Given the description of an element on the screen output the (x, y) to click on. 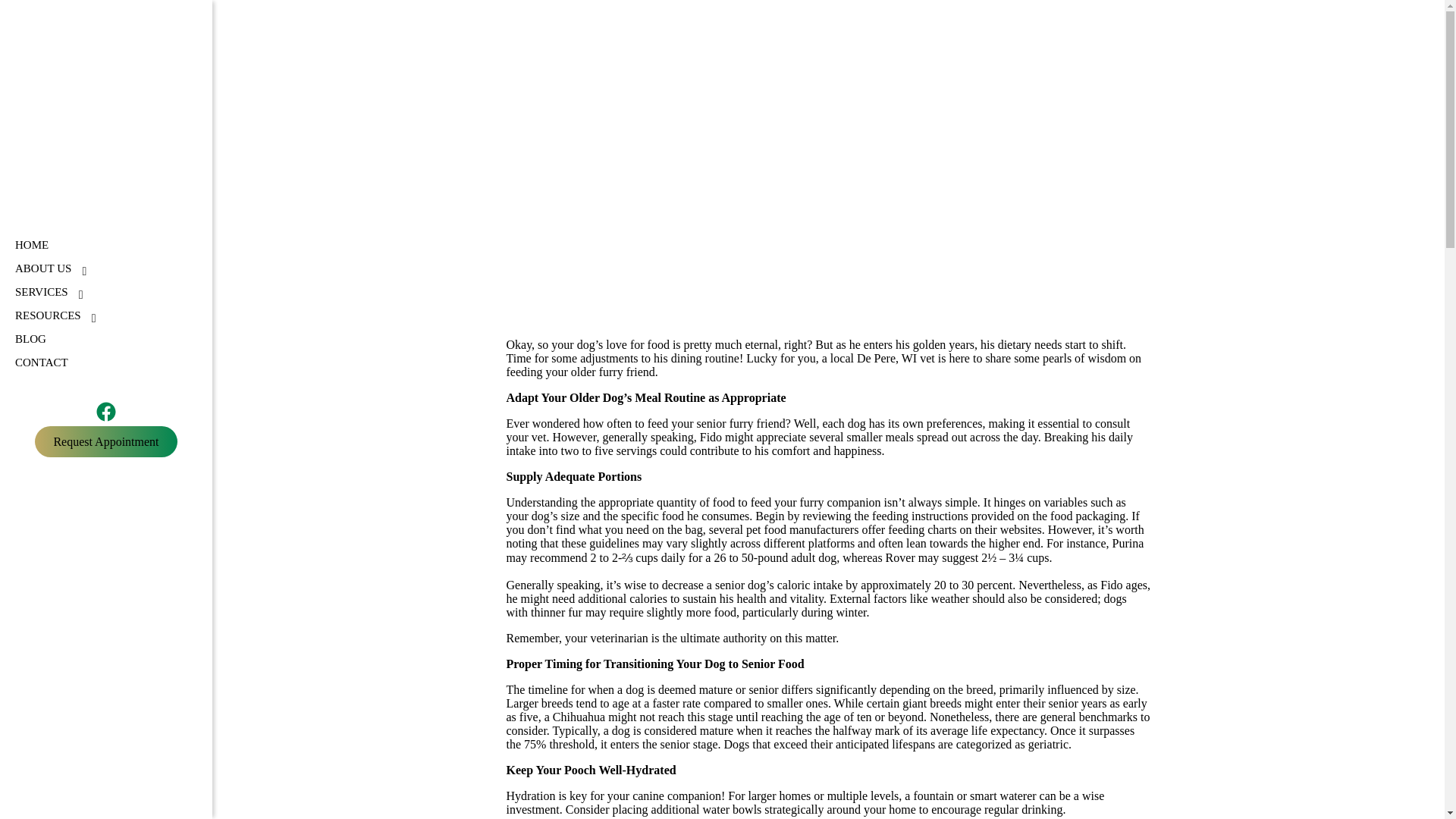
BLOG (30, 338)
Facebook (105, 411)
RESOURCES (47, 315)
Request Appointment (105, 441)
SERVICES (41, 291)
CONTACT (41, 362)
ABOUT US (42, 268)
HOME (31, 245)
